Given the description of an element on the screen output the (x, y) to click on. 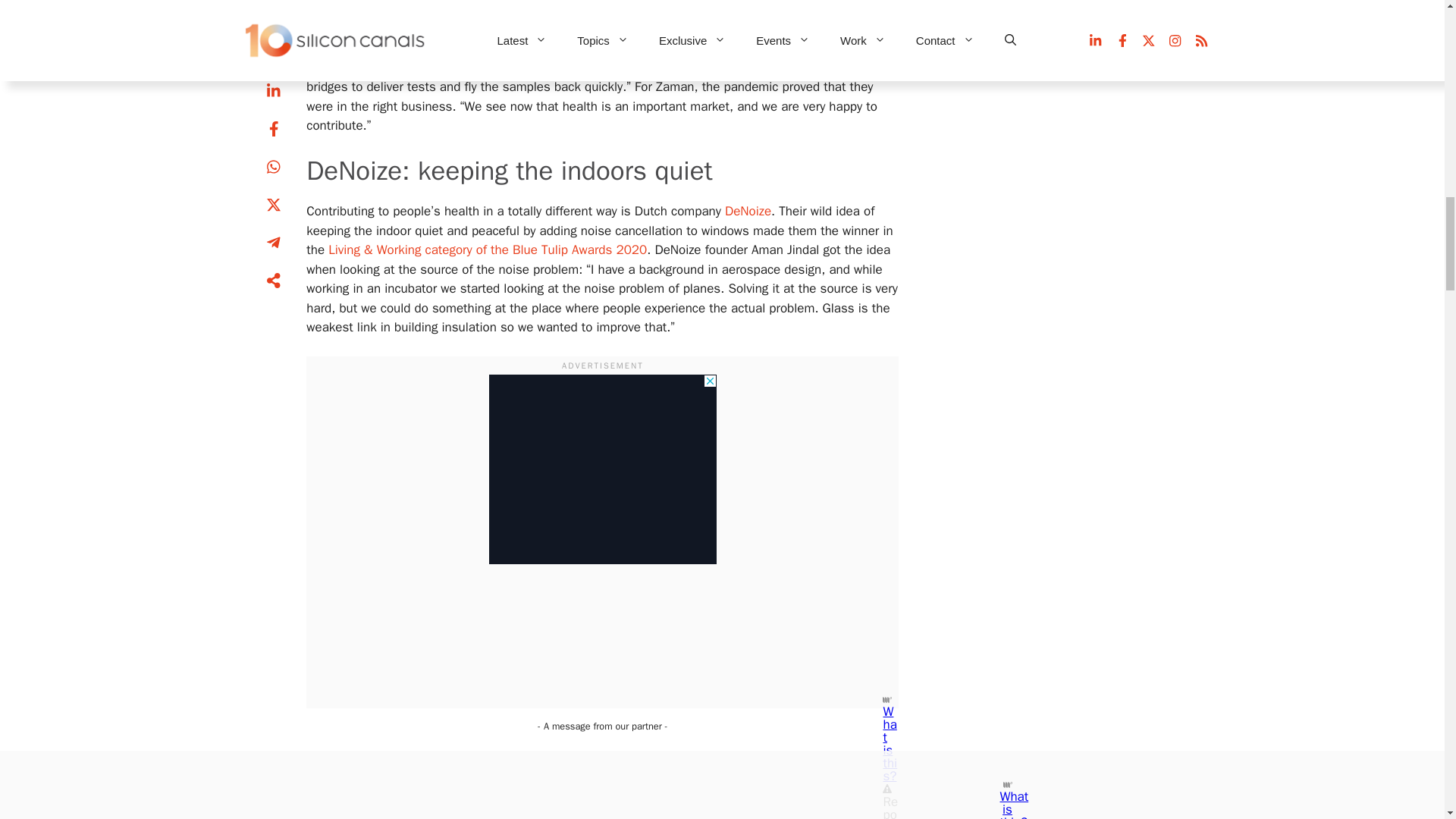
3rd party ad content (602, 469)
